Given the description of an element on the screen output the (x, y) to click on. 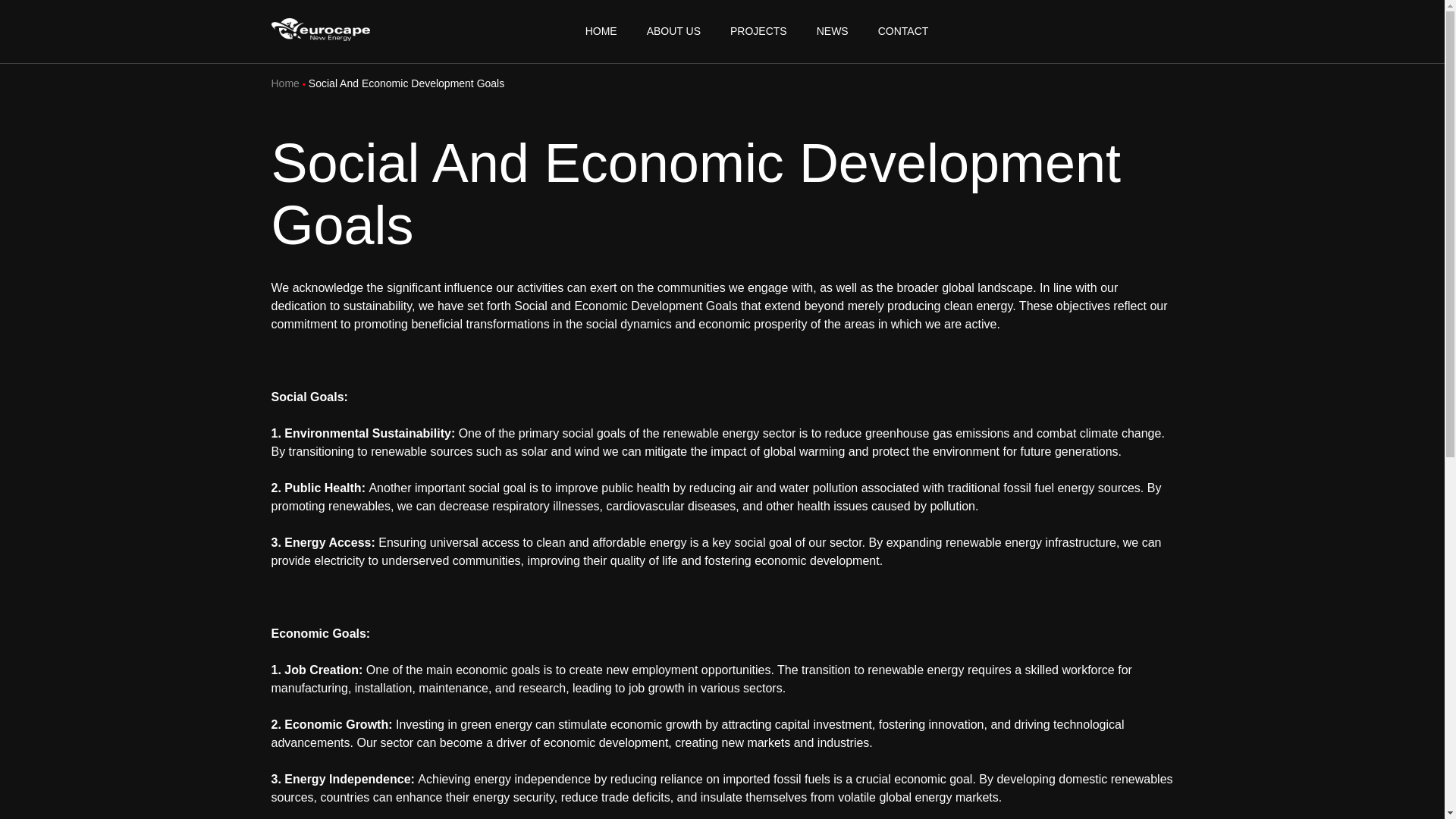
PROJECTS (758, 31)
Home (284, 83)
Social And Economic Development Goals (405, 83)
